Given the description of an element on the screen output the (x, y) to click on. 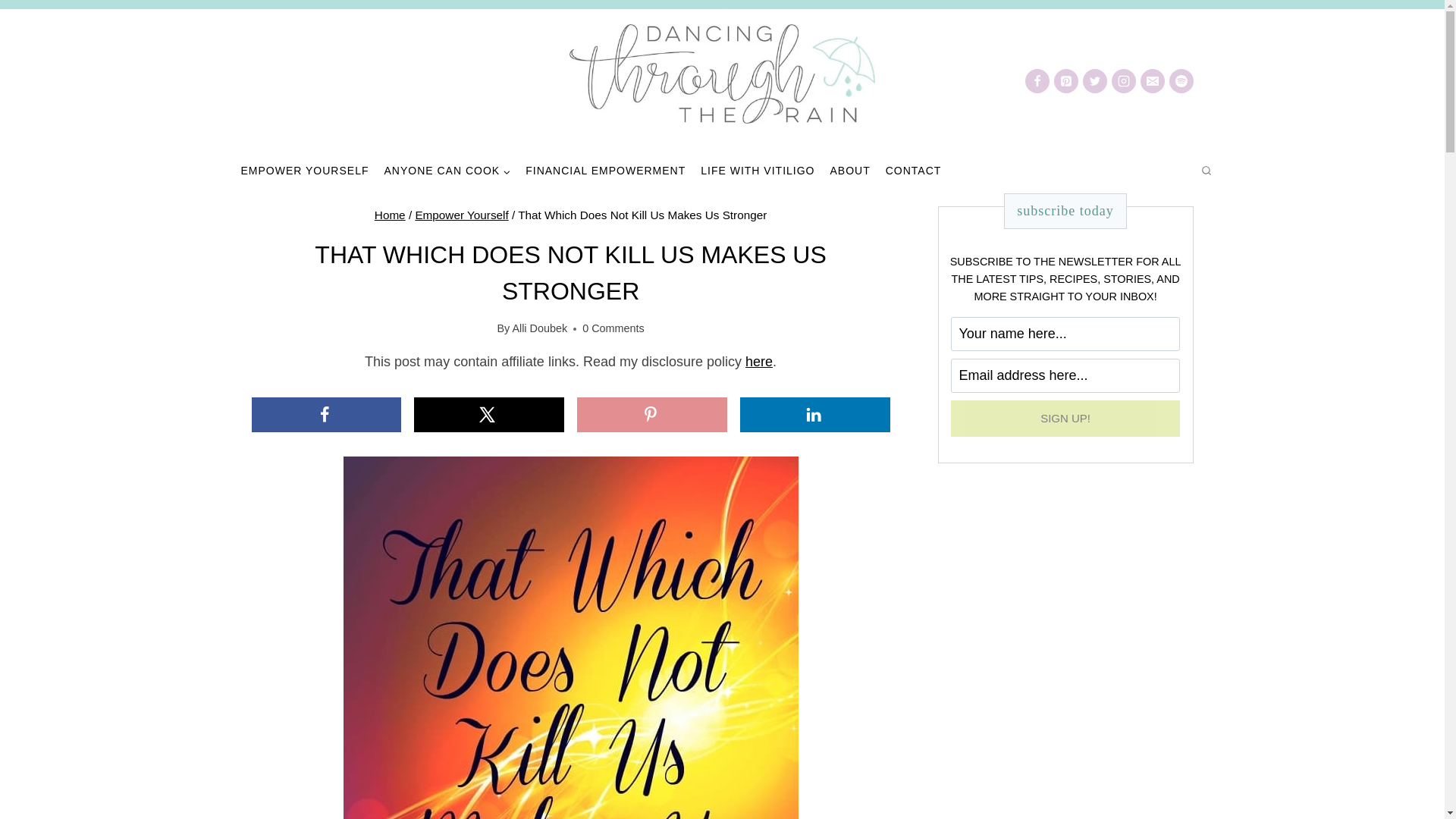
Home (390, 214)
here (759, 361)
Alli Doubek (539, 328)
ABOUT (849, 170)
Save to Pinterest (651, 414)
CONTACT (913, 170)
ANYONE CAN COOK (446, 170)
0 Comments (613, 328)
Share on LinkedIn (814, 414)
Email address here... (1064, 375)
EMPOWER YOURSELF (304, 170)
0 Comments (613, 328)
LIFE WITH VITILIGO (757, 170)
Your name here... (1064, 333)
Share on Facebook (326, 414)
